Given the description of an element on the screen output the (x, y) to click on. 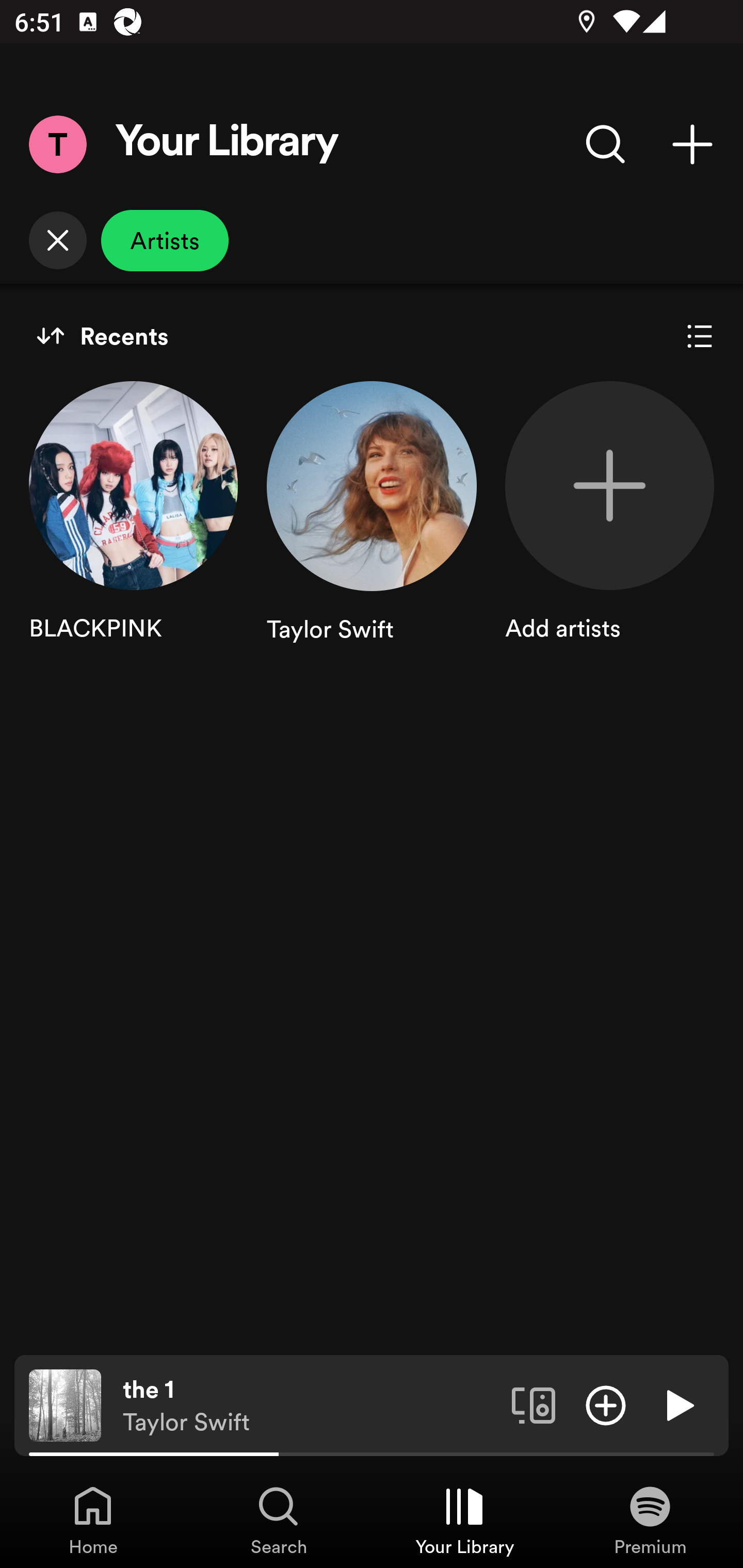
Menu (57, 144)
Search Your Library (605, 144)
Create playlist (692, 144)
Your Library Your Library Heading (226, 144)
Clear Filters (57, 240)
Artists, show only artists. (164, 240)
Recents (101, 336)
Show List view (699, 336)
BLACKPINK,  BLACKPINK (132, 531)
Taylor Swift,  Taylor Swift (371, 531)
Add artists,  Add artists (609, 531)
the 1 Taylor Swift (309, 1405)
The cover art of the currently playing track (64, 1404)
Connect to a device. Opens the devices menu (533, 1404)
Add item (605, 1404)
Play (677, 1404)
Home, Tab 1 of 4 Home Home (92, 1519)
Search, Tab 2 of 4 Search Search (278, 1519)
Your Library, Tab 3 of 4 Your Library Your Library (464, 1519)
Premium, Tab 4 of 4 Premium Premium (650, 1519)
